Given the description of an element on the screen output the (x, y) to click on. 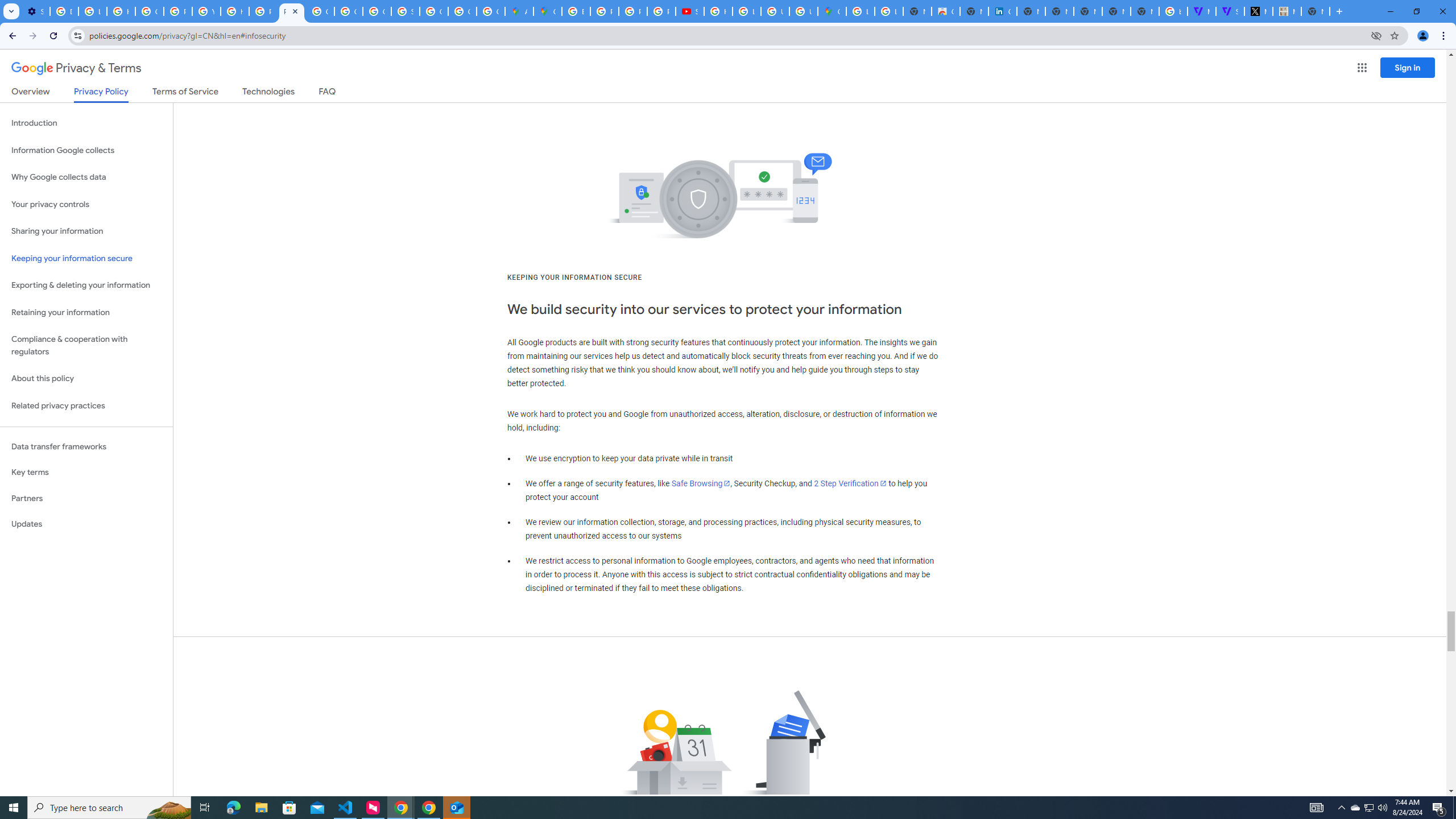
Subscriptions - YouTube (690, 11)
Privacy Help Center - Policies Help (178, 11)
Technologies (268, 93)
Privacy & Terms (76, 68)
Updates (86, 524)
Google Maps (547, 11)
How Chrome protects your passwords - Google Chrome Help (718, 11)
Privacy Help Center - Policies Help (604, 11)
